Given the description of an element on the screen output the (x, y) to click on. 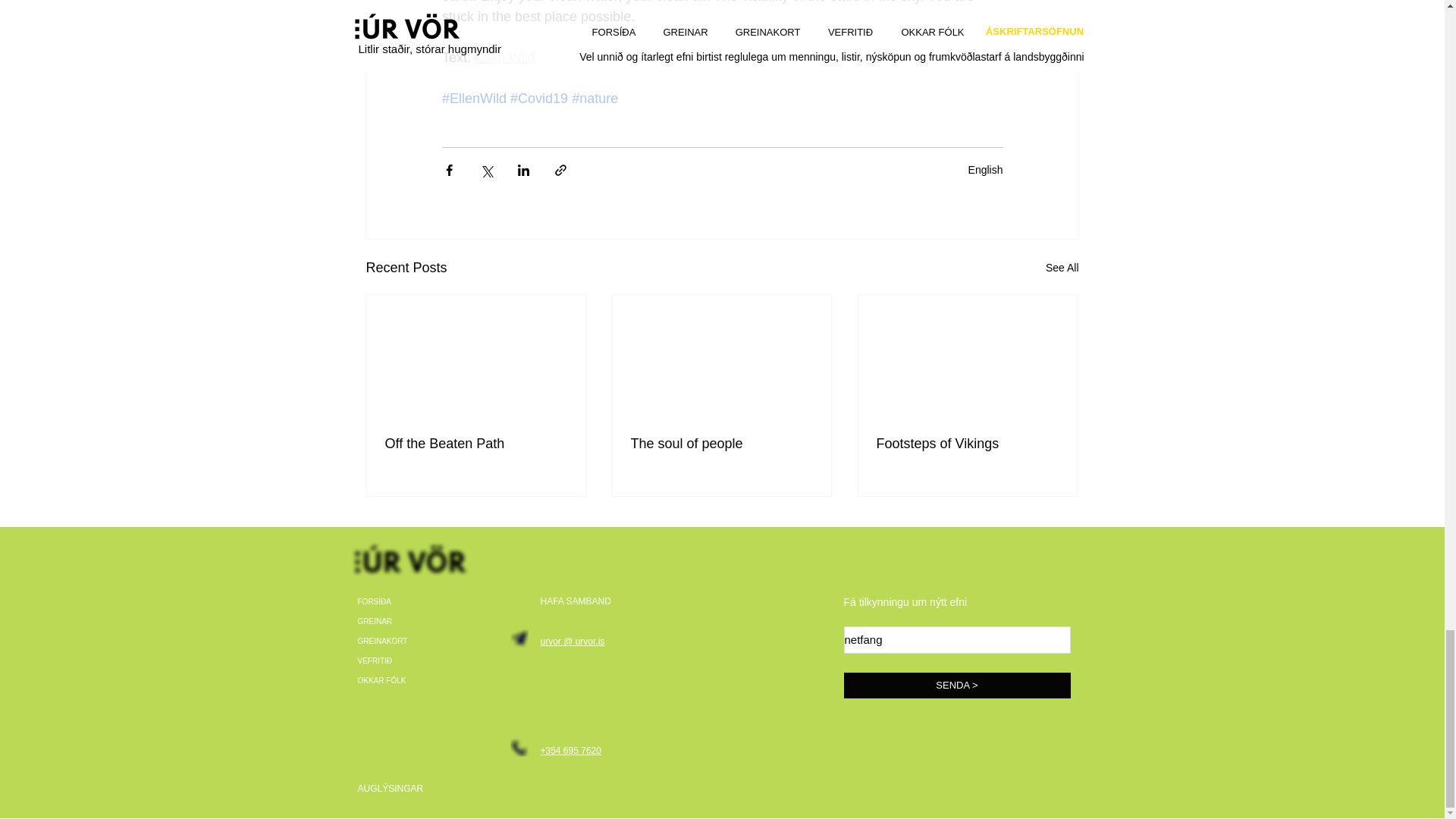
Footsteps of Vikings (967, 443)
The soul of people (721, 443)
See All (1061, 268)
Off the Beaten Path (476, 443)
English (985, 169)
GREINAR (405, 621)
GREINAKORT (405, 641)
Ellen Wild (504, 57)
